Given the description of an element on the screen output the (x, y) to click on. 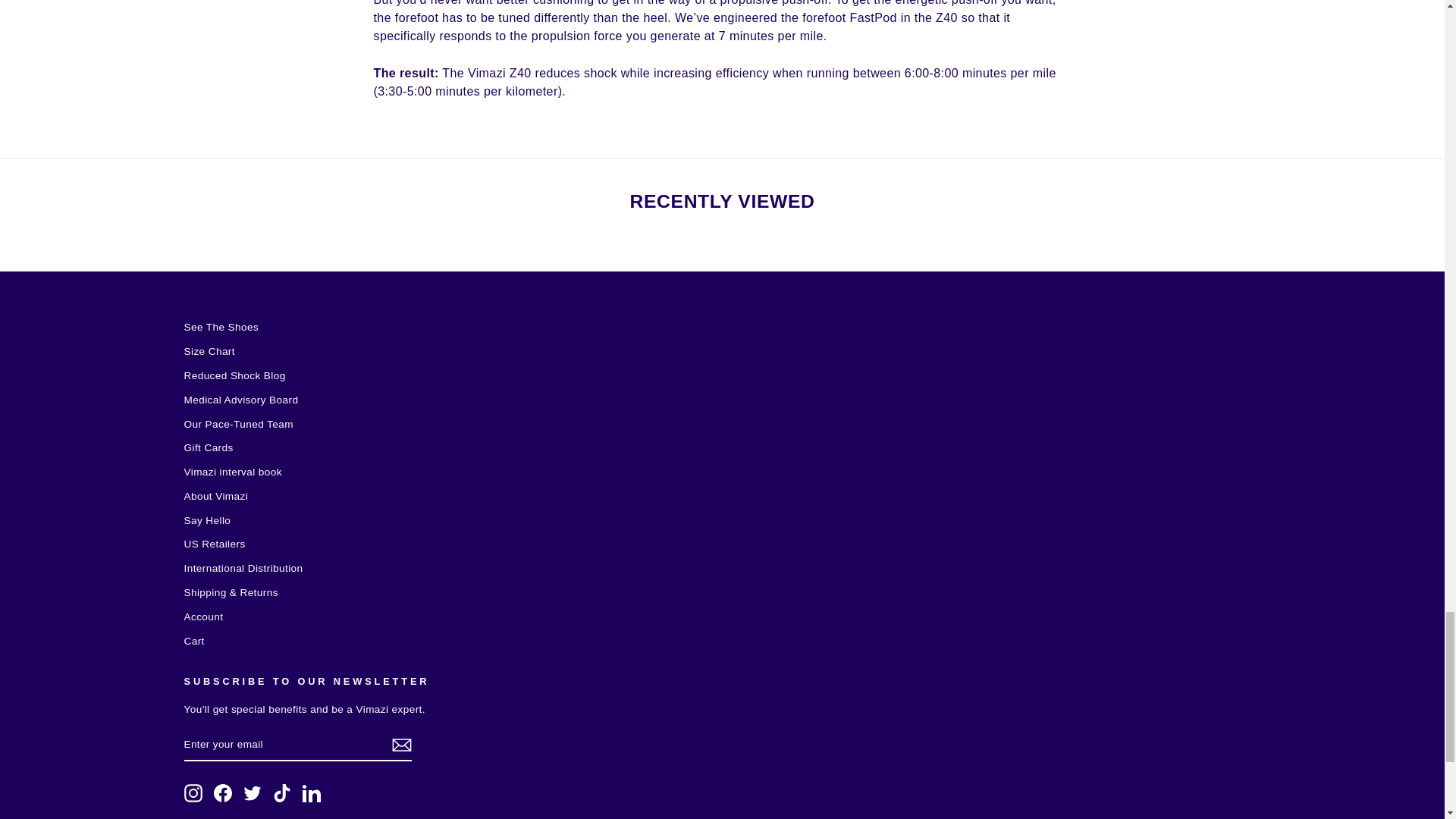
Vimazi on LinkedIn (310, 792)
Vimazi on Twitter (251, 792)
Vimazi on Instagram (192, 792)
icon-email (400, 745)
Vimazi on Facebook (222, 792)
twitter (251, 792)
Vimazi on TikTok (282, 792)
instagram (192, 792)
